Given the description of an element on the screen output the (x, y) to click on. 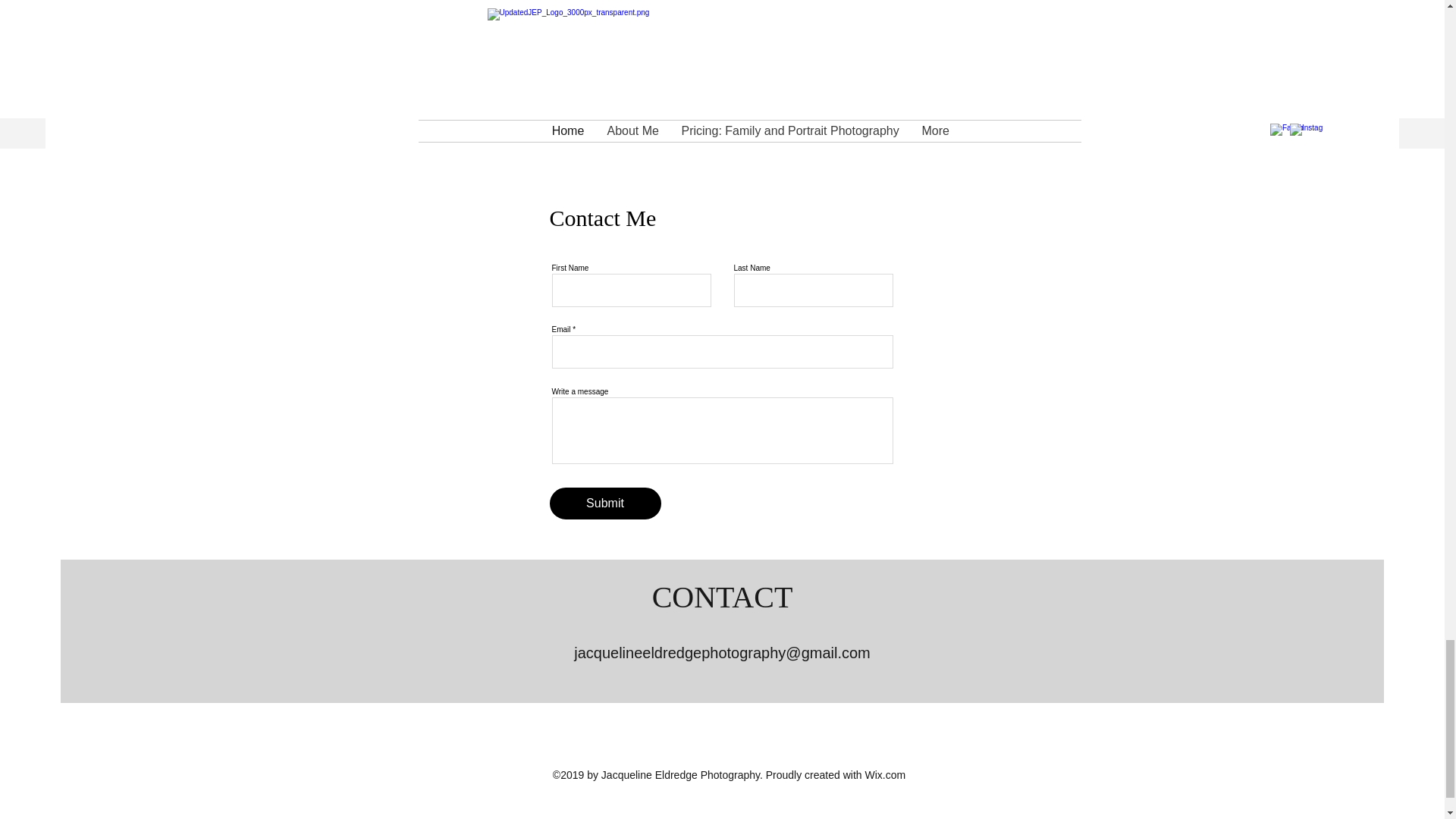
Submit (604, 503)
